Given the description of an element on the screen output the (x, y) to click on. 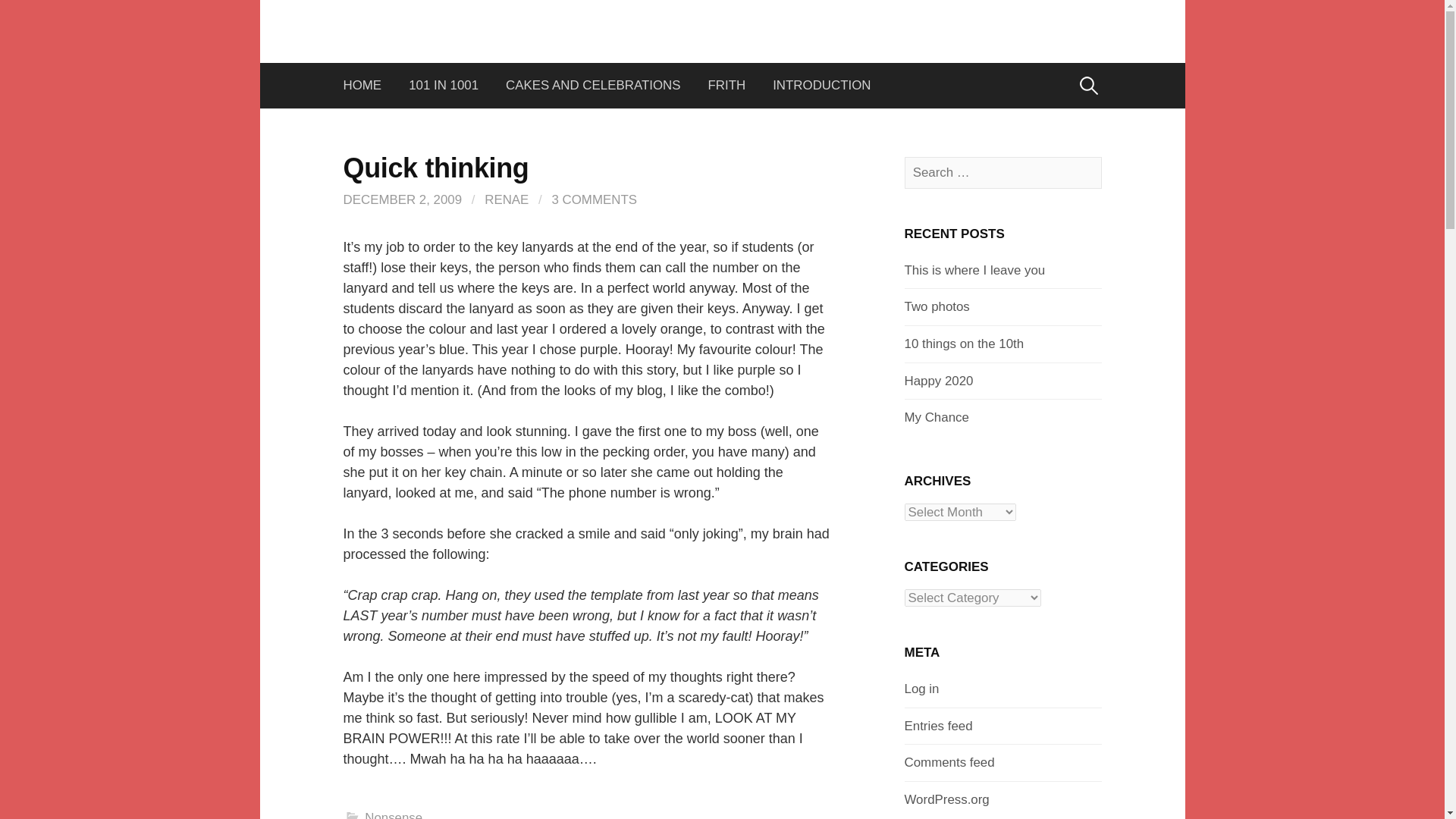
Entries feed (938, 726)
Search (16, 16)
This is where I leave you (974, 269)
Log in (921, 688)
Comments feed (949, 762)
Nonsense (393, 814)
RENAE (506, 199)
Search (40, 16)
FRITH (726, 85)
10 things on the 10th (963, 343)
DECEMBER 2, 2009 (401, 199)
101 IN 1001 (443, 85)
HOME (368, 85)
CAKES AND CELEBRATIONS (593, 85)
WordPress.org (946, 799)
